Given the description of an element on the screen output the (x, y) to click on. 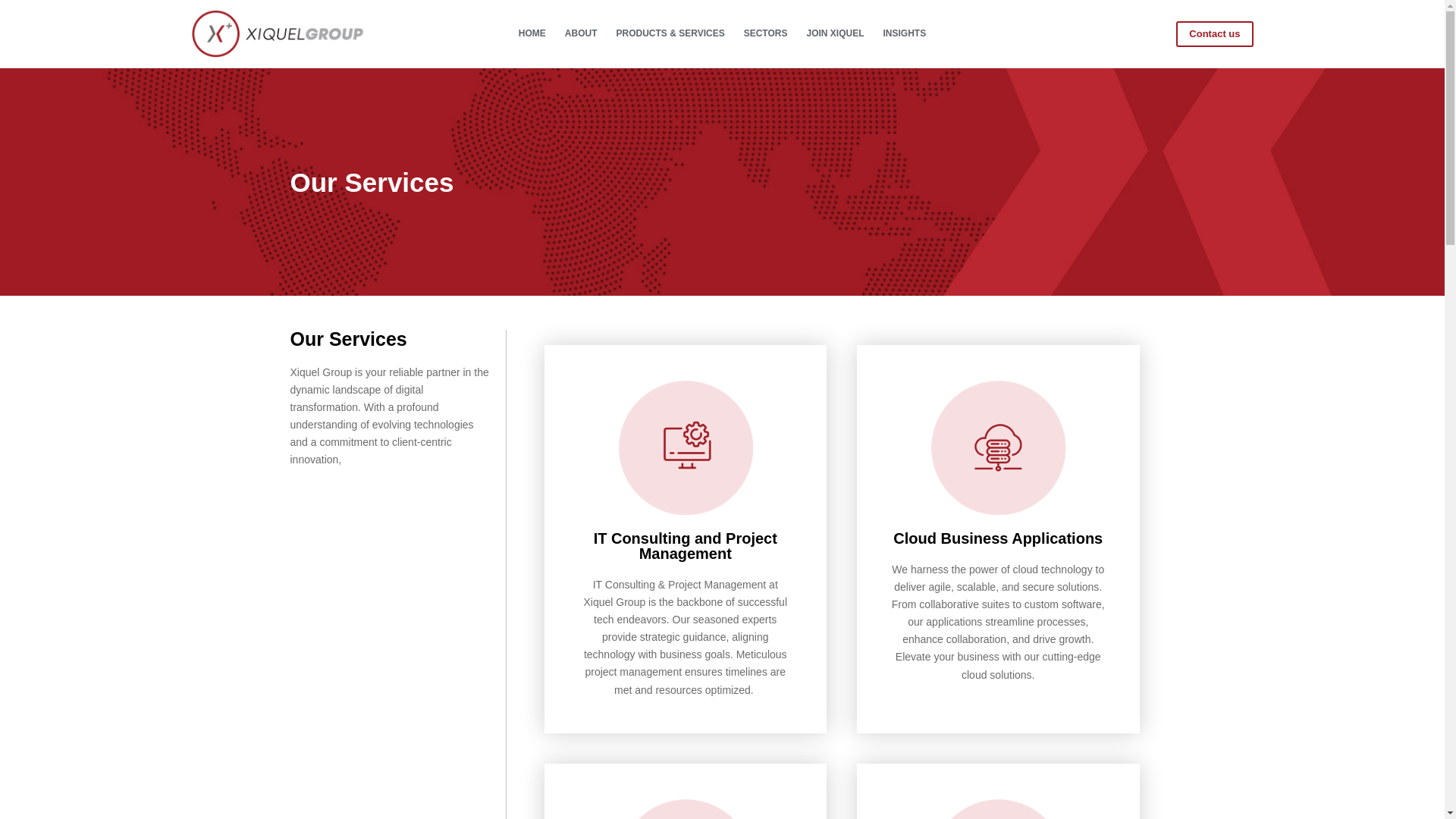
JOIN XIQUEL (834, 33)
Skip to content (15, 7)
SECTORS (764, 33)
Contact us (1214, 33)
INSIGHTS (904, 33)
